Given the description of an element on the screen output the (x, y) to click on. 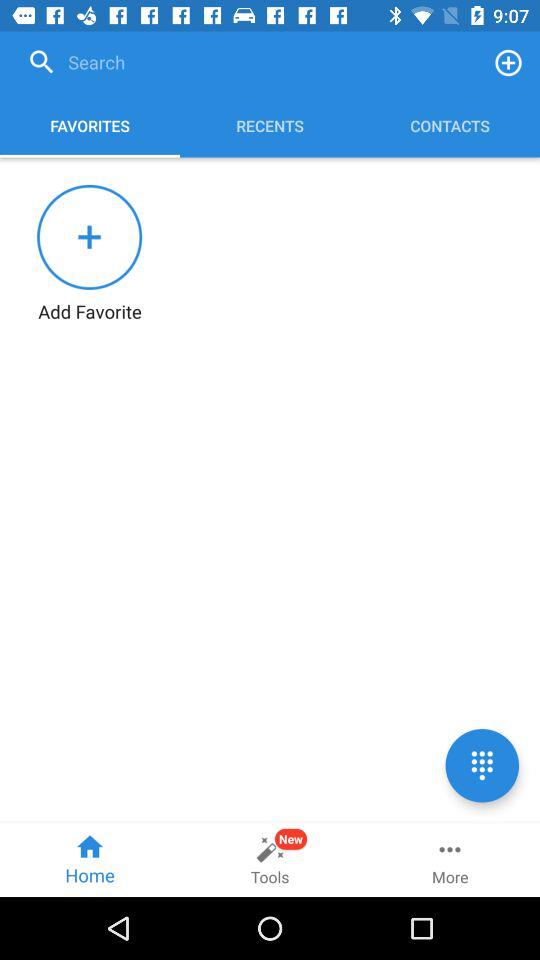
enter search terms (249, 62)
